Given the description of an element on the screen output the (x, y) to click on. 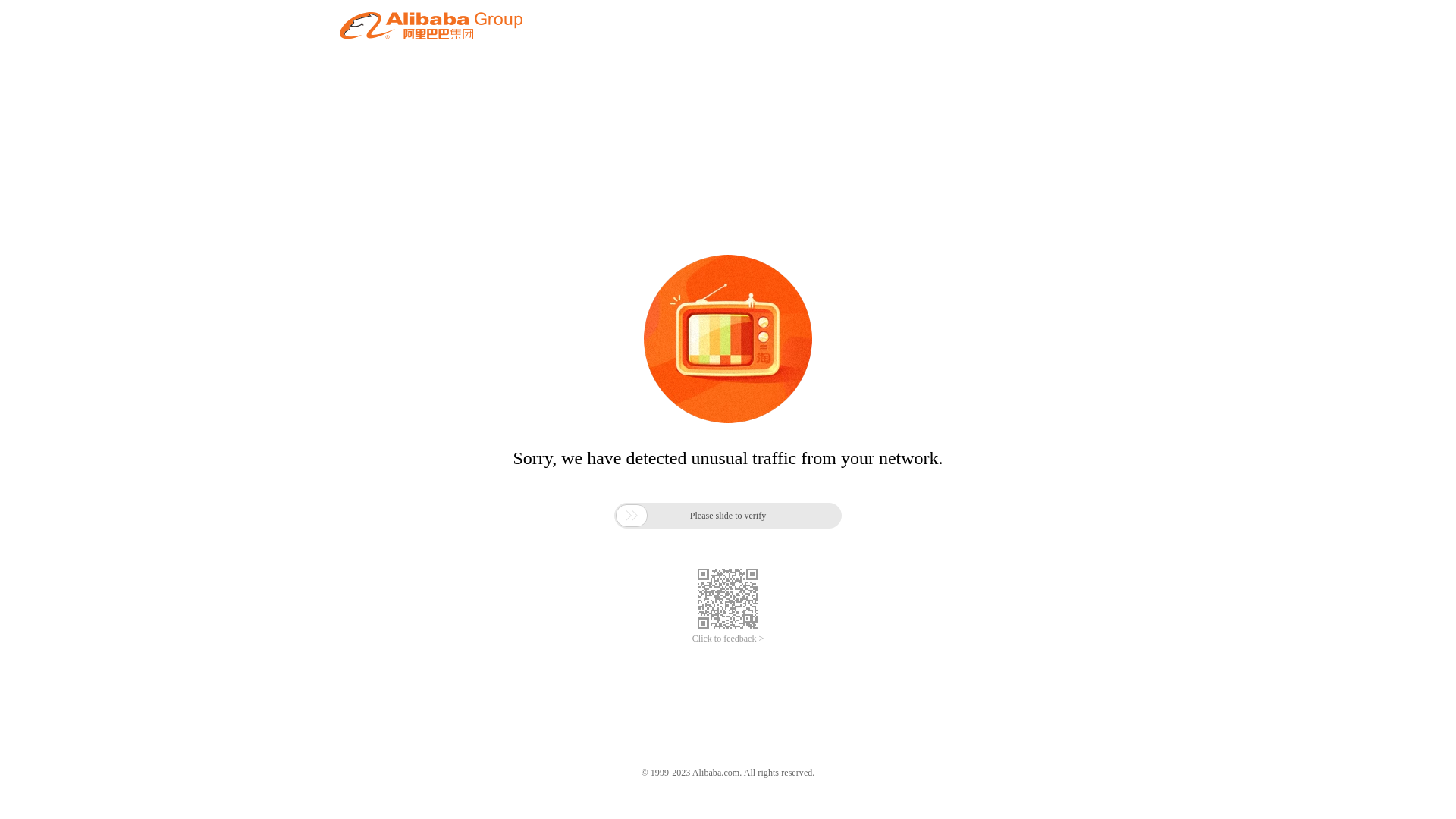
Click to feedback > Element type: text (727, 638)
